Given the description of an element on the screen output the (x, y) to click on. 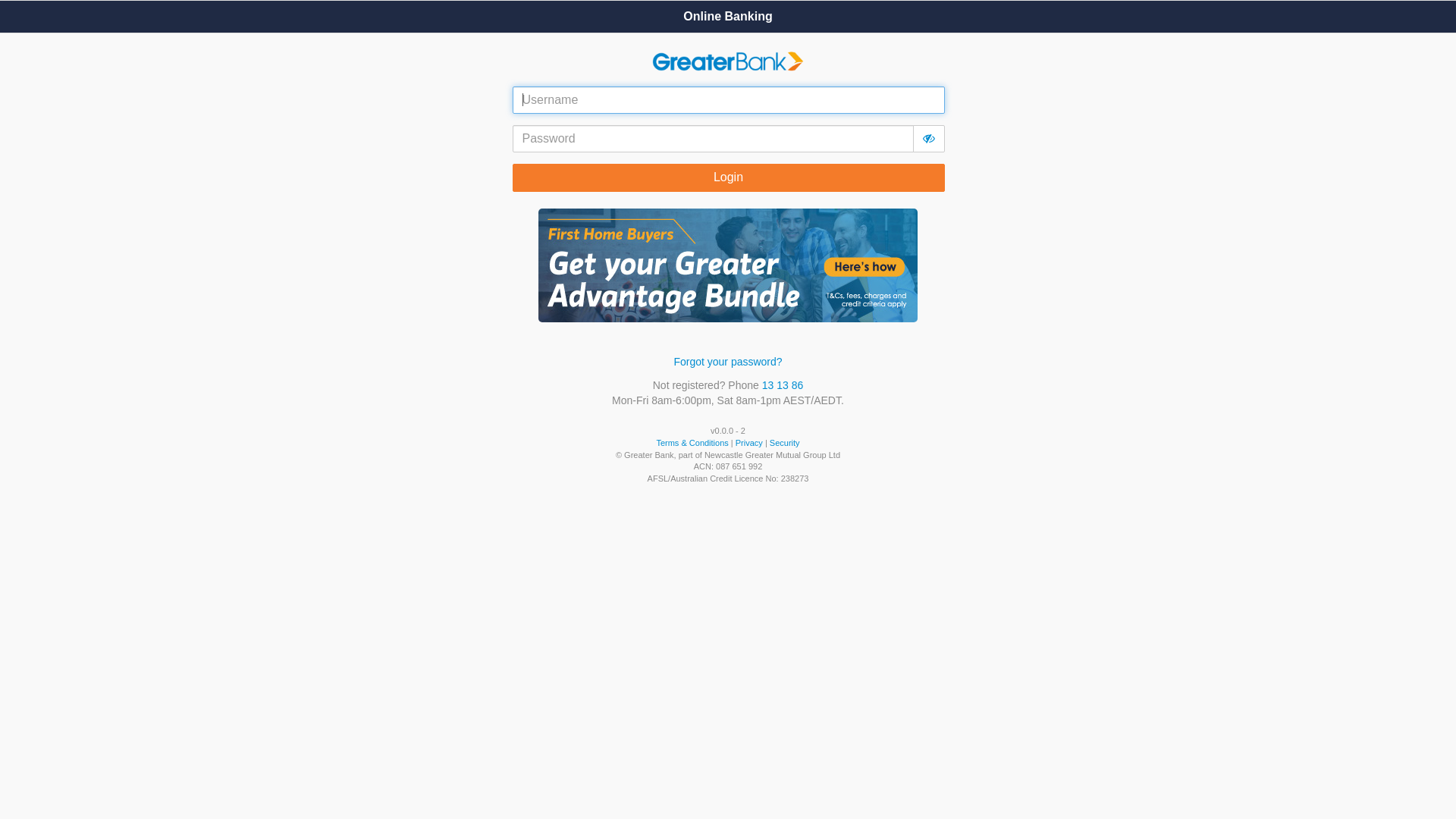
Login Element type: text (728, 177)
Forgot your password? Element type: text (727, 361)
Privacy Element type: text (748, 442)
13 13 86 Element type: text (782, 385)
Security Element type: text (784, 442)
Terms & Conditions Element type: text (691, 442)
